Given the description of an element on the screen output the (x, y) to click on. 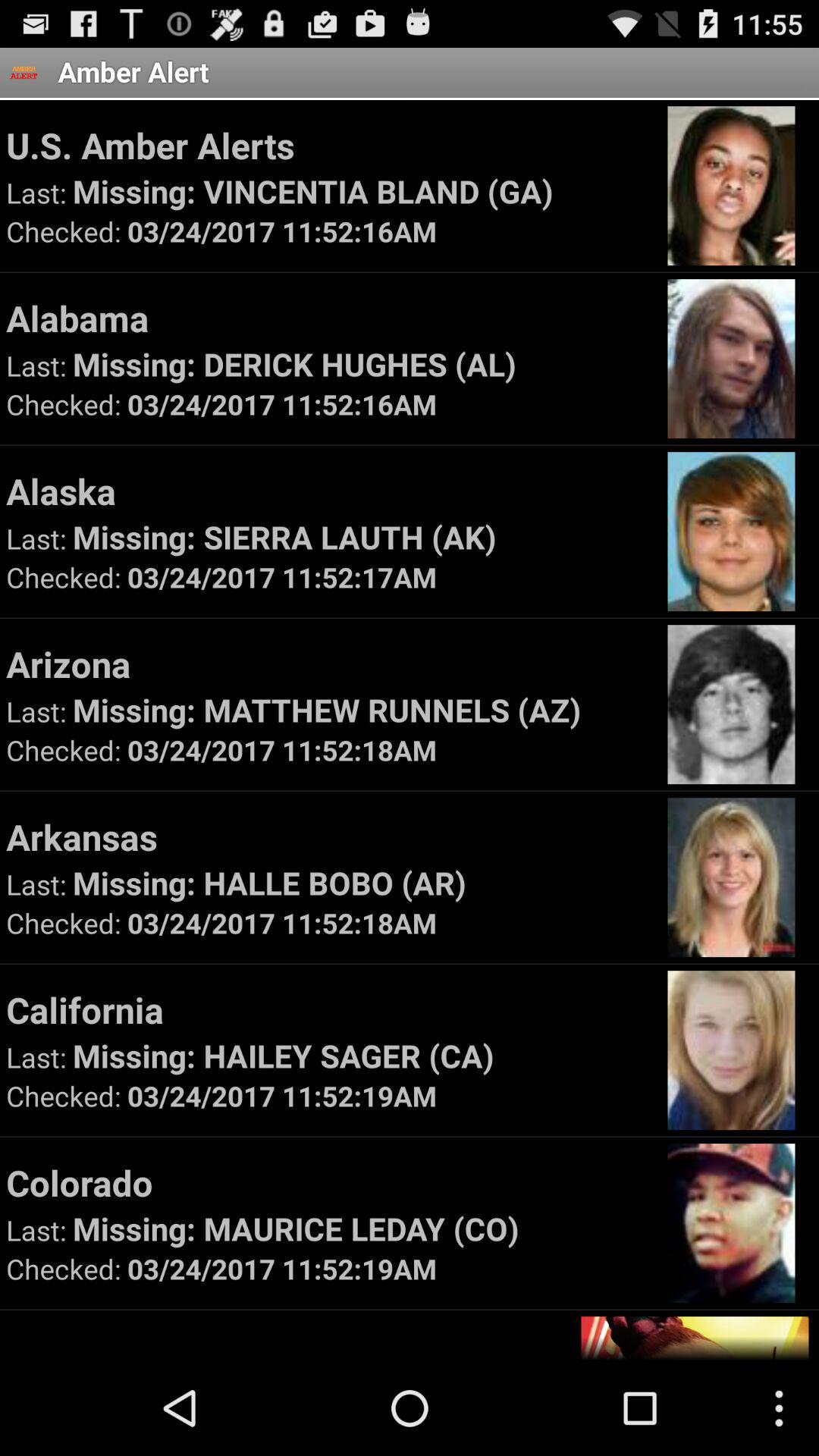
jump until alaska (329, 490)
